Given the description of an element on the screen output the (x, y) to click on. 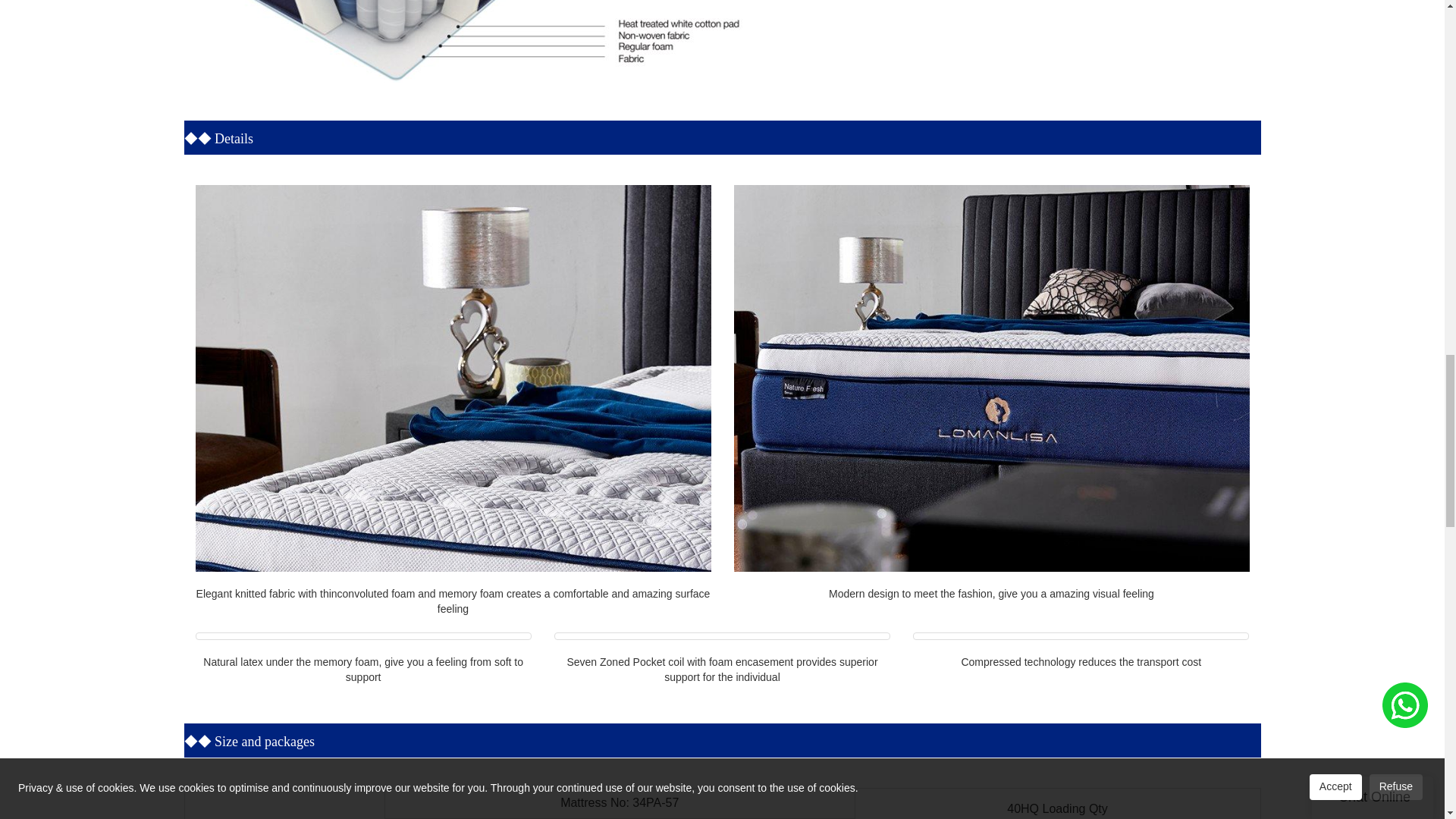
undefined (486, 41)
